Given the description of an element on the screen output the (x, y) to click on. 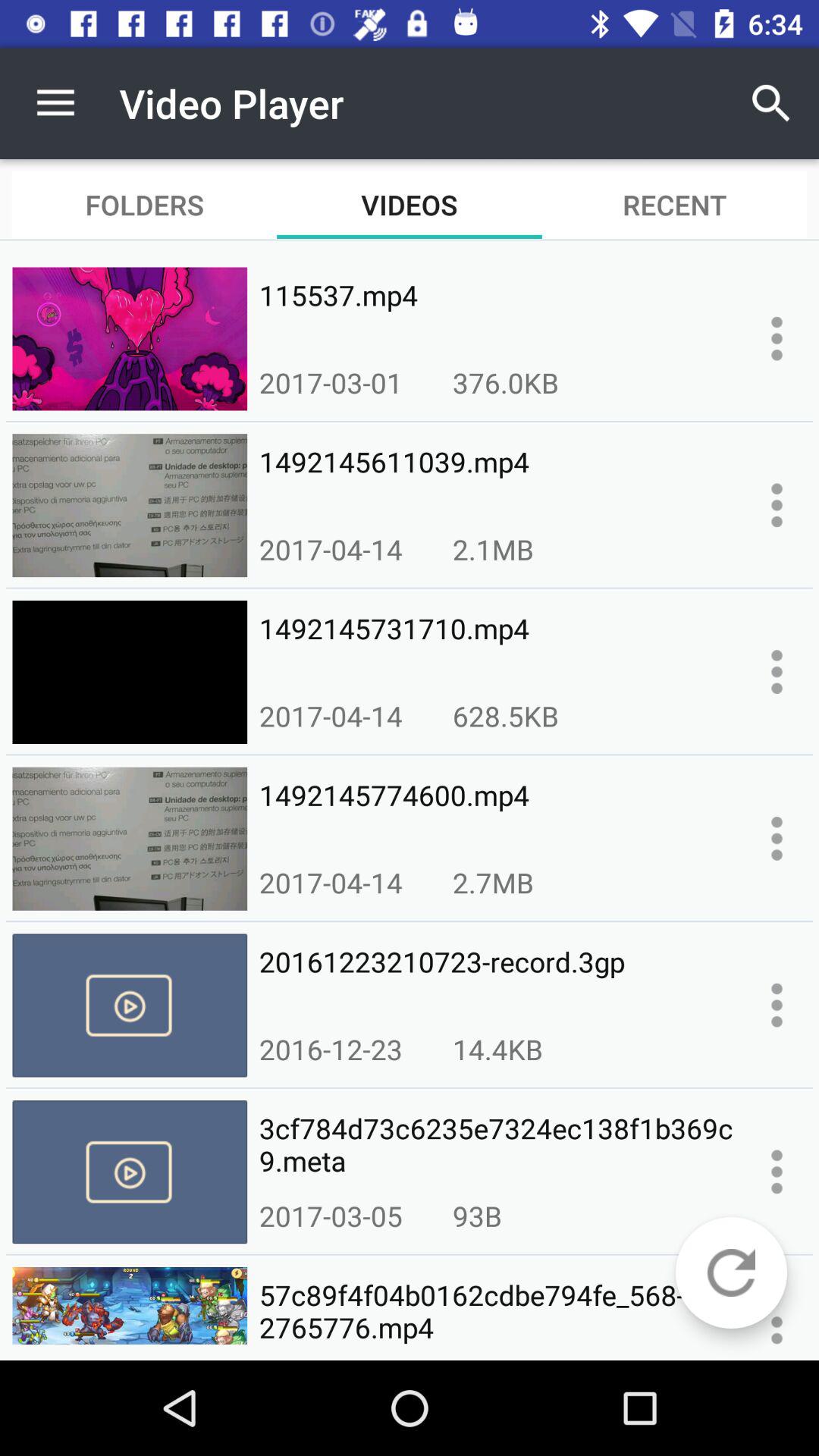
acces app settings (776, 1005)
